Given the description of an element on the screen output the (x, y) to click on. 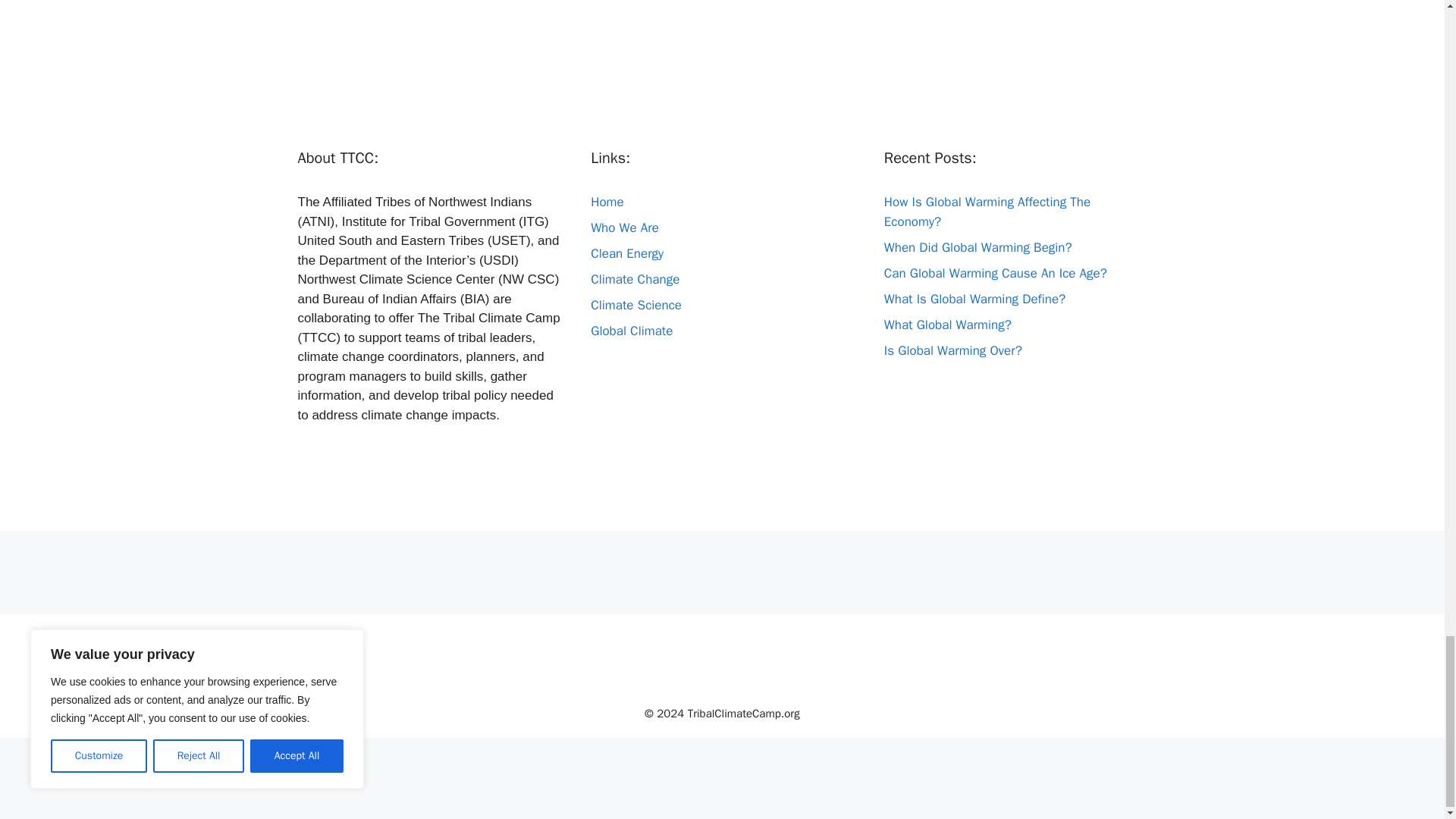
Advertisement (721, 54)
